Given the description of an element on the screen output the (x, y) to click on. 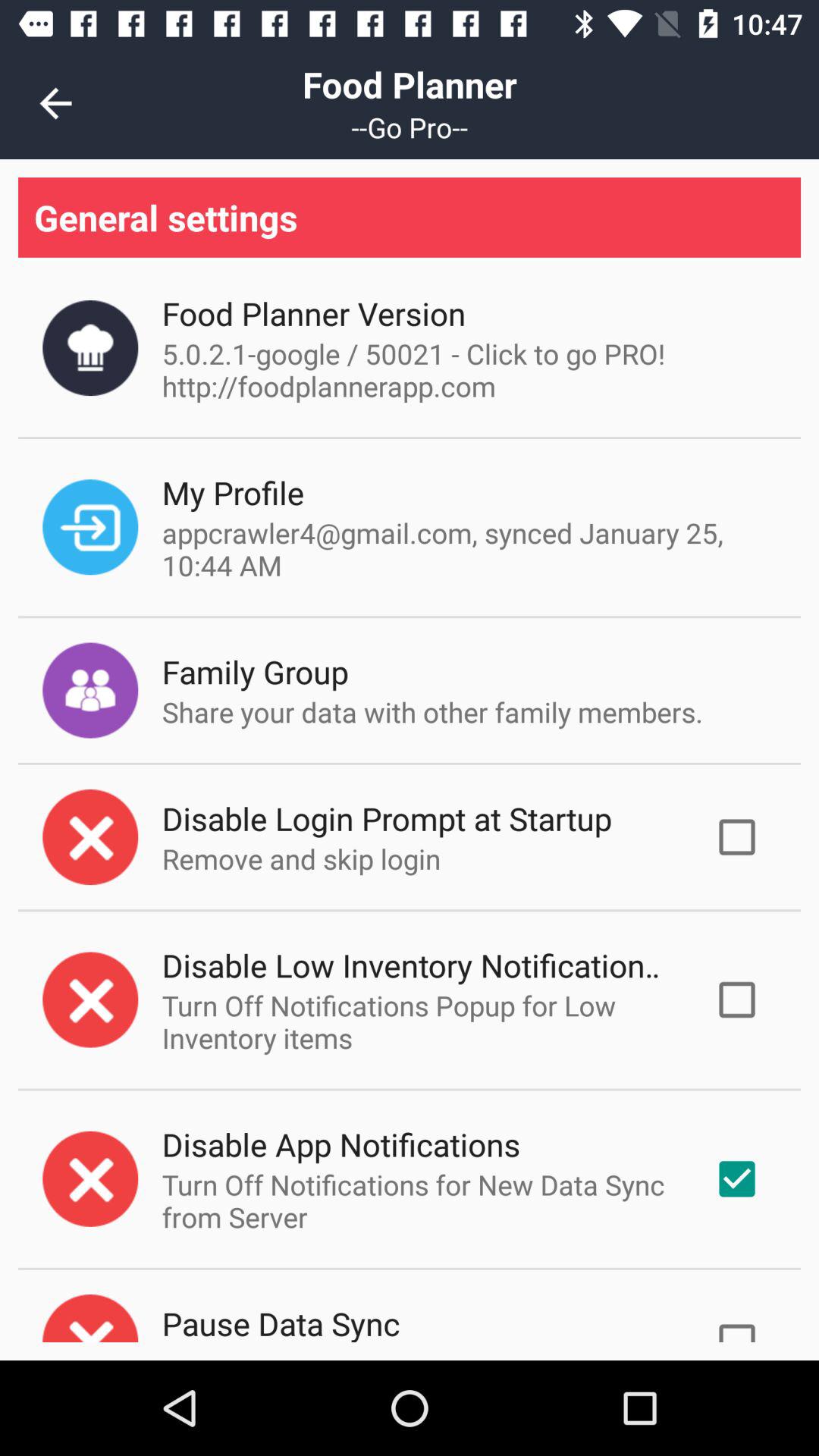
choose family group icon (255, 671)
